Given the description of an element on the screen output the (x, y) to click on. 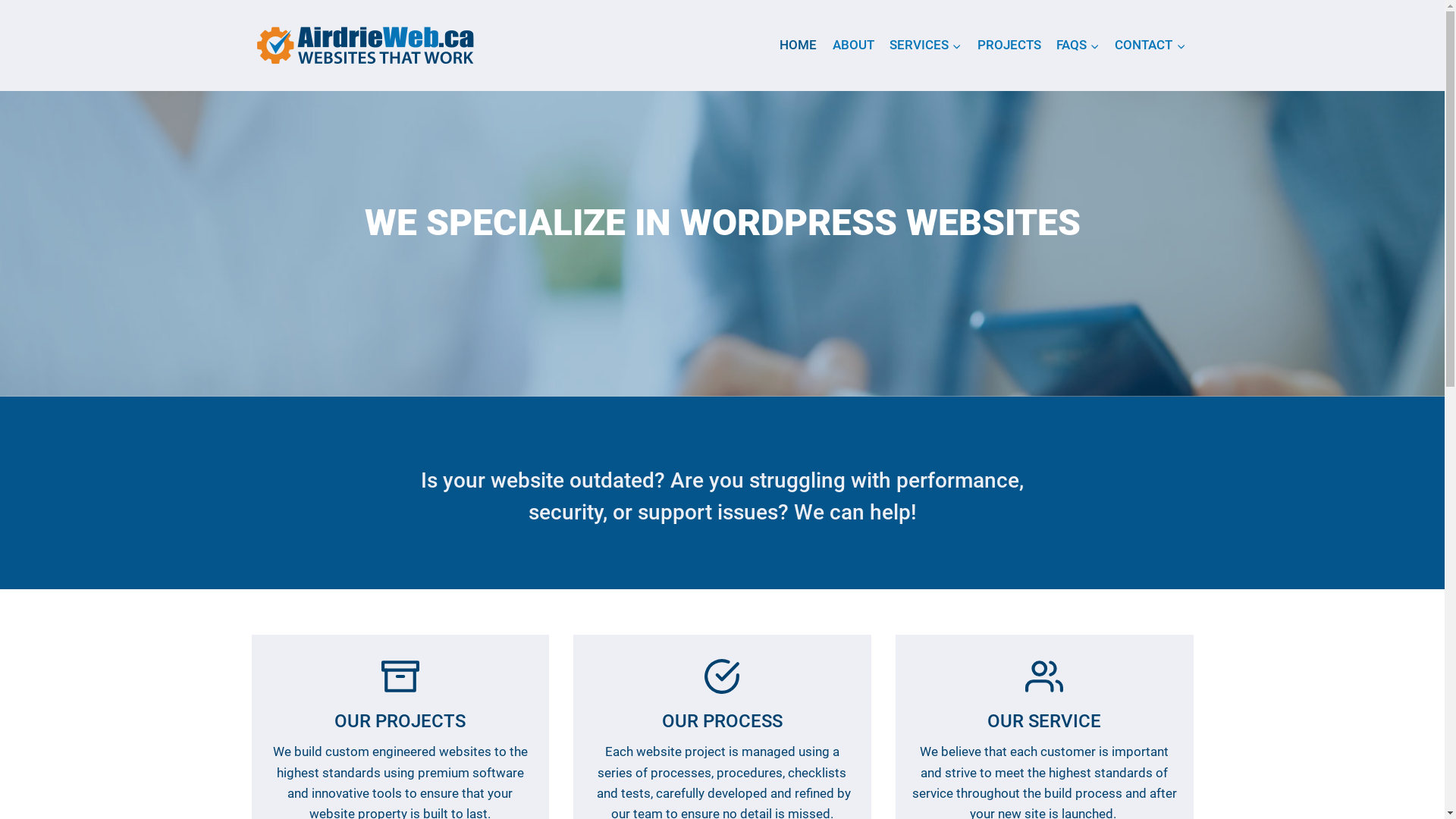
HOME Element type: text (797, 45)
PROJECTS Element type: text (1008, 45)
CONTACT Element type: text (1149, 45)
SERVICES Element type: text (925, 45)
FAQS Element type: text (1077, 45)
ABOUT Element type: text (853, 45)
